Given the description of an element on the screen output the (x, y) to click on. 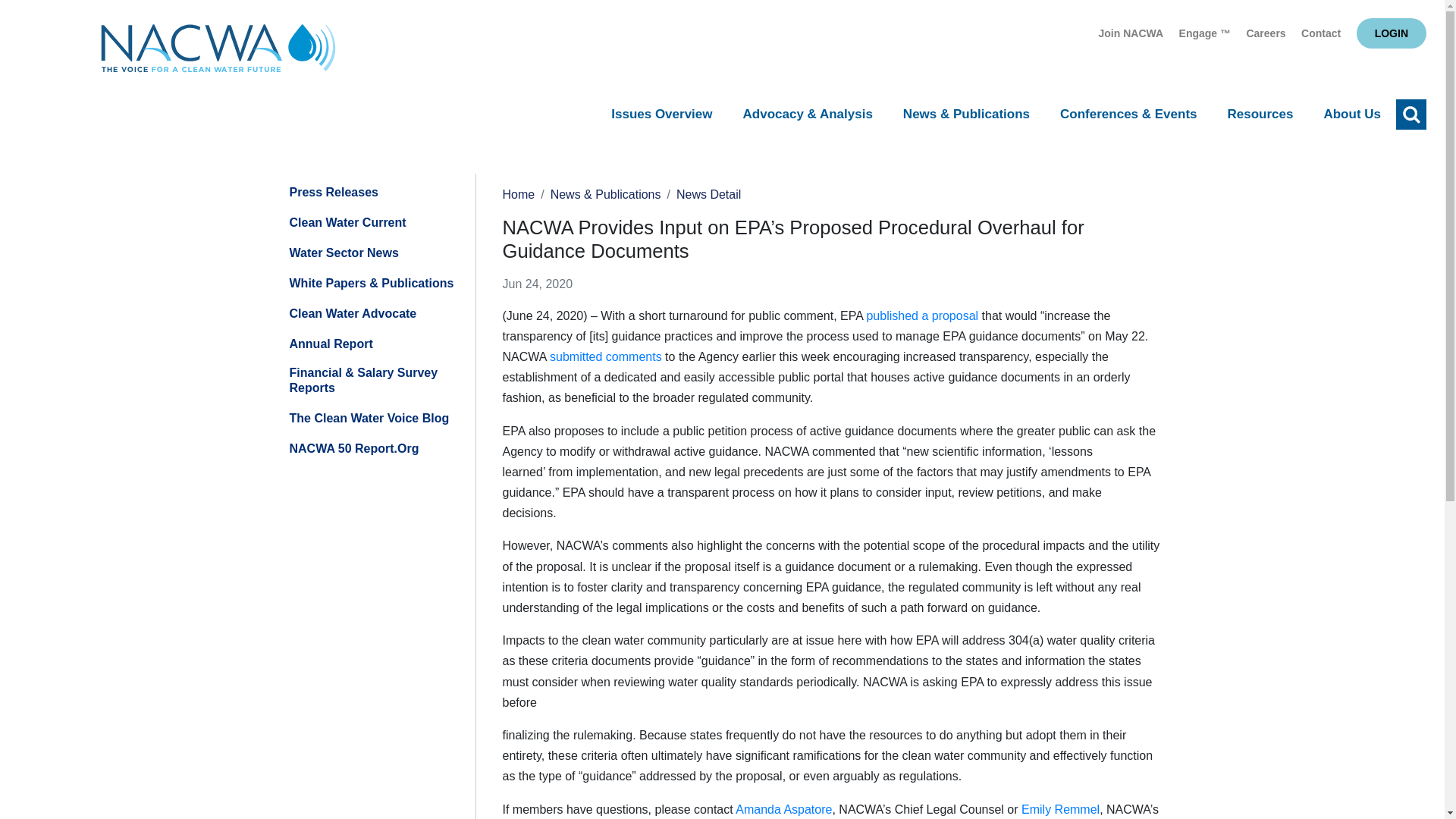
LOGIN (1391, 33)
Issues Overview (660, 115)
Careers (1265, 33)
Join NACWA (1131, 33)
Home (218, 52)
Contact (1320, 33)
